Given the description of an element on the screen output the (x, y) to click on. 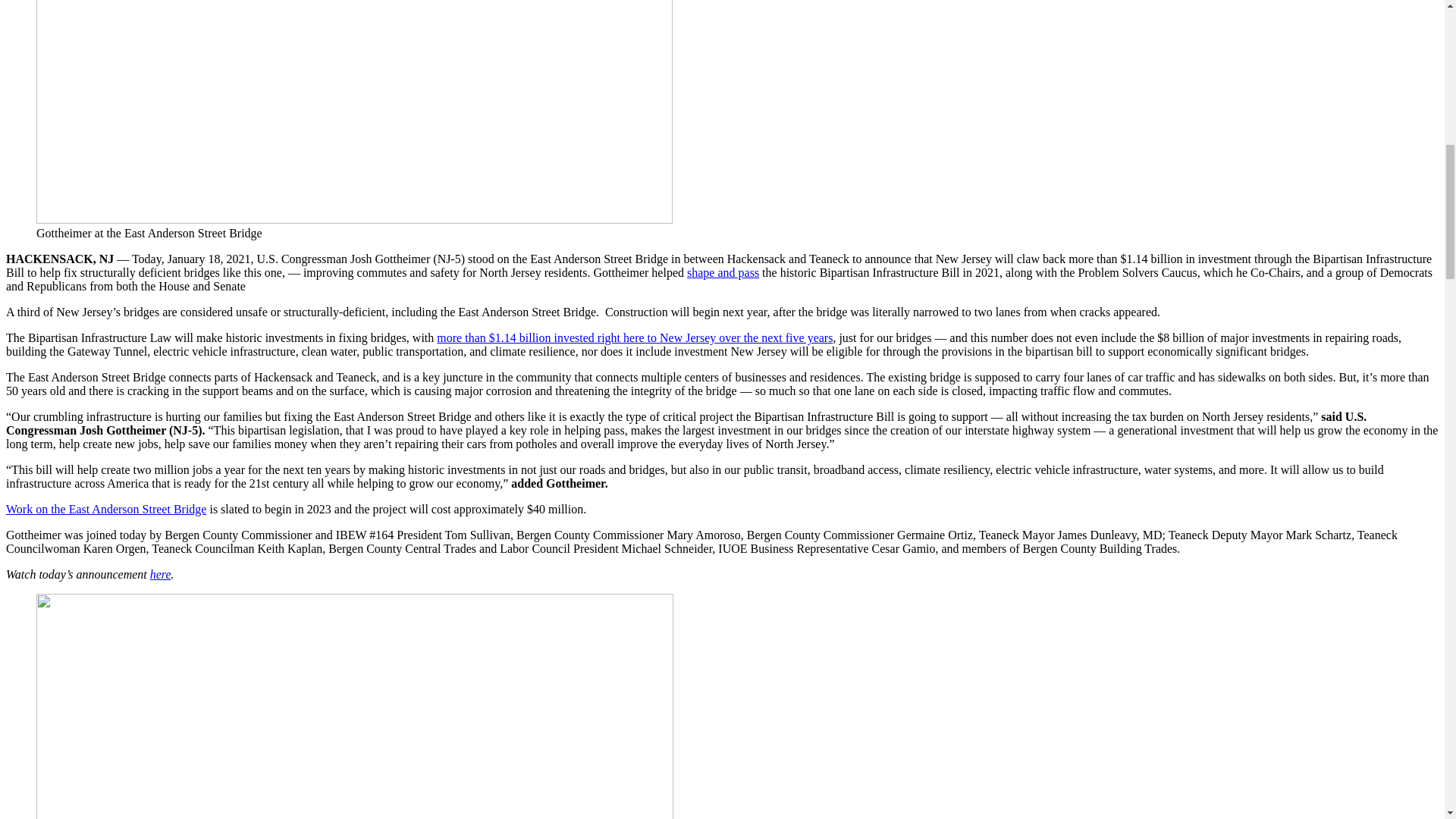
here (160, 574)
Work on the East Anderson Street Bridge (105, 508)
shape and pass (722, 272)
